Given the description of an element on the screen output the (x, y) to click on. 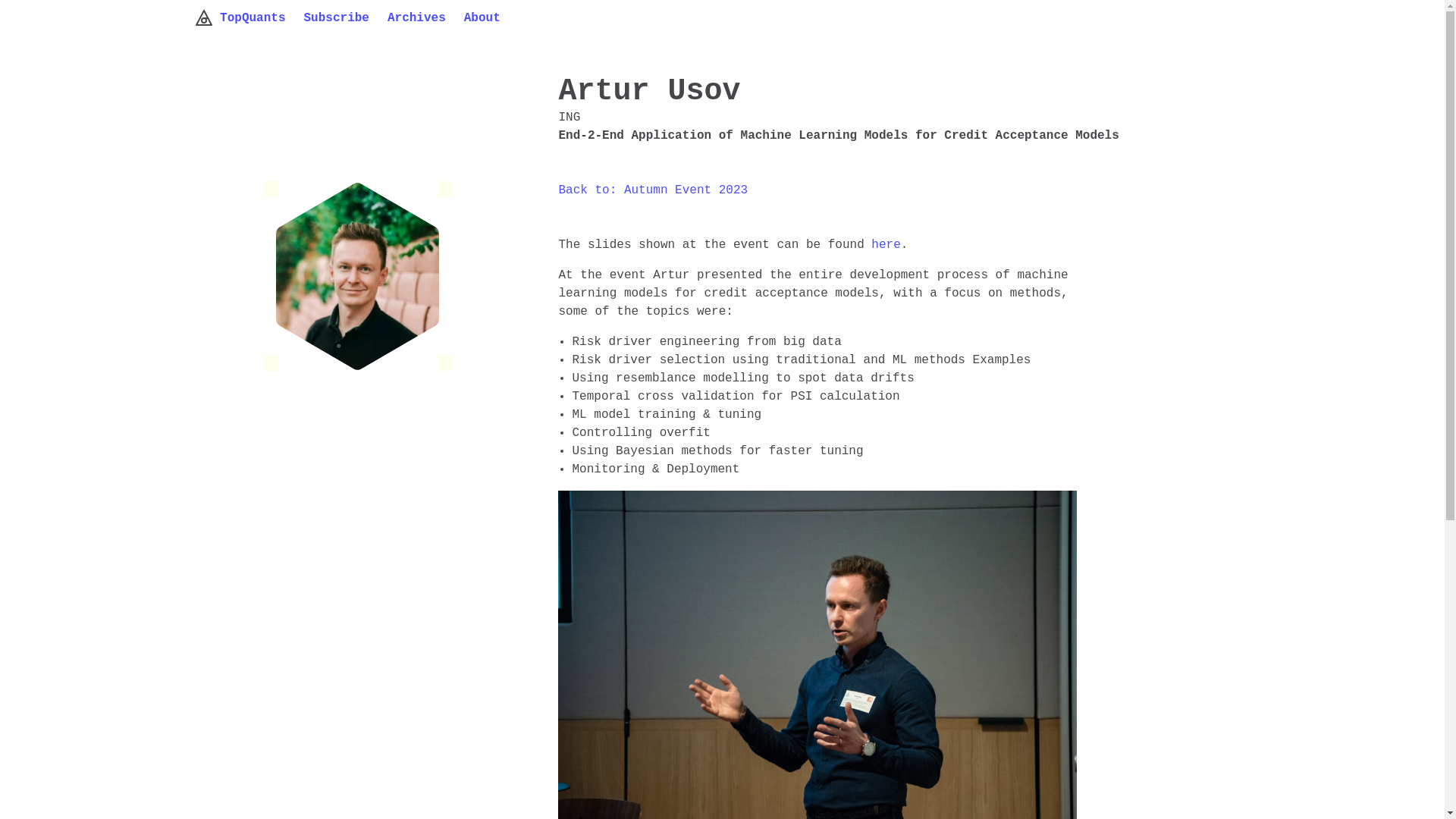
here (884, 244)
About (491, 18)
TopQuants (247, 18)
Back to: Autumn Event 2023 (652, 190)
Archives (425, 18)
Subscribe (345, 18)
